Given the description of an element on the screen output the (x, y) to click on. 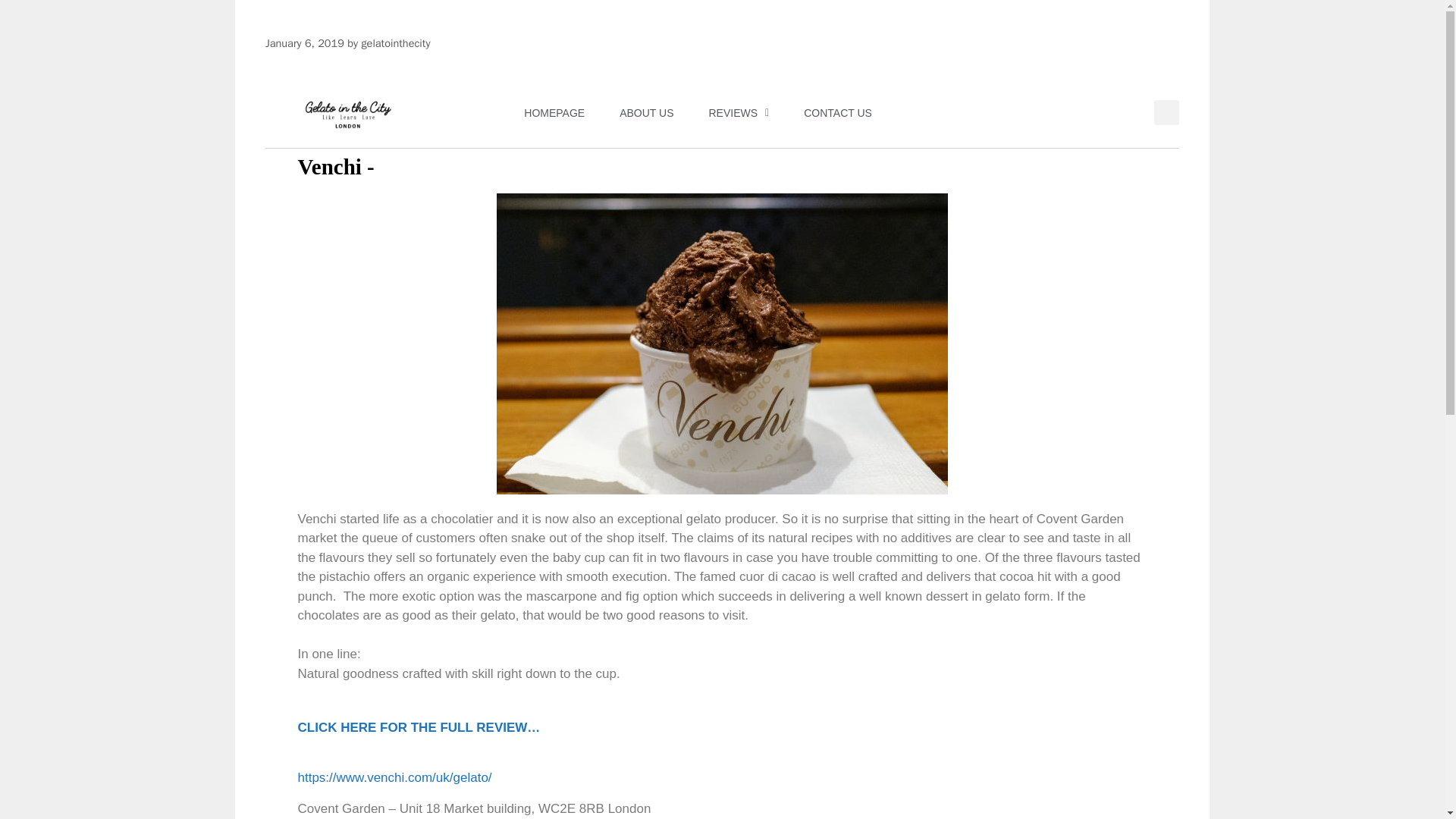
CONTACT US (837, 112)
REVIEWS (738, 112)
ABOUT US (646, 112)
gelatointhecity (395, 42)
View all posts by gelatointhecity (395, 42)
HOMEPAGE (553, 112)
